Given the description of an element on the screen output the (x, y) to click on. 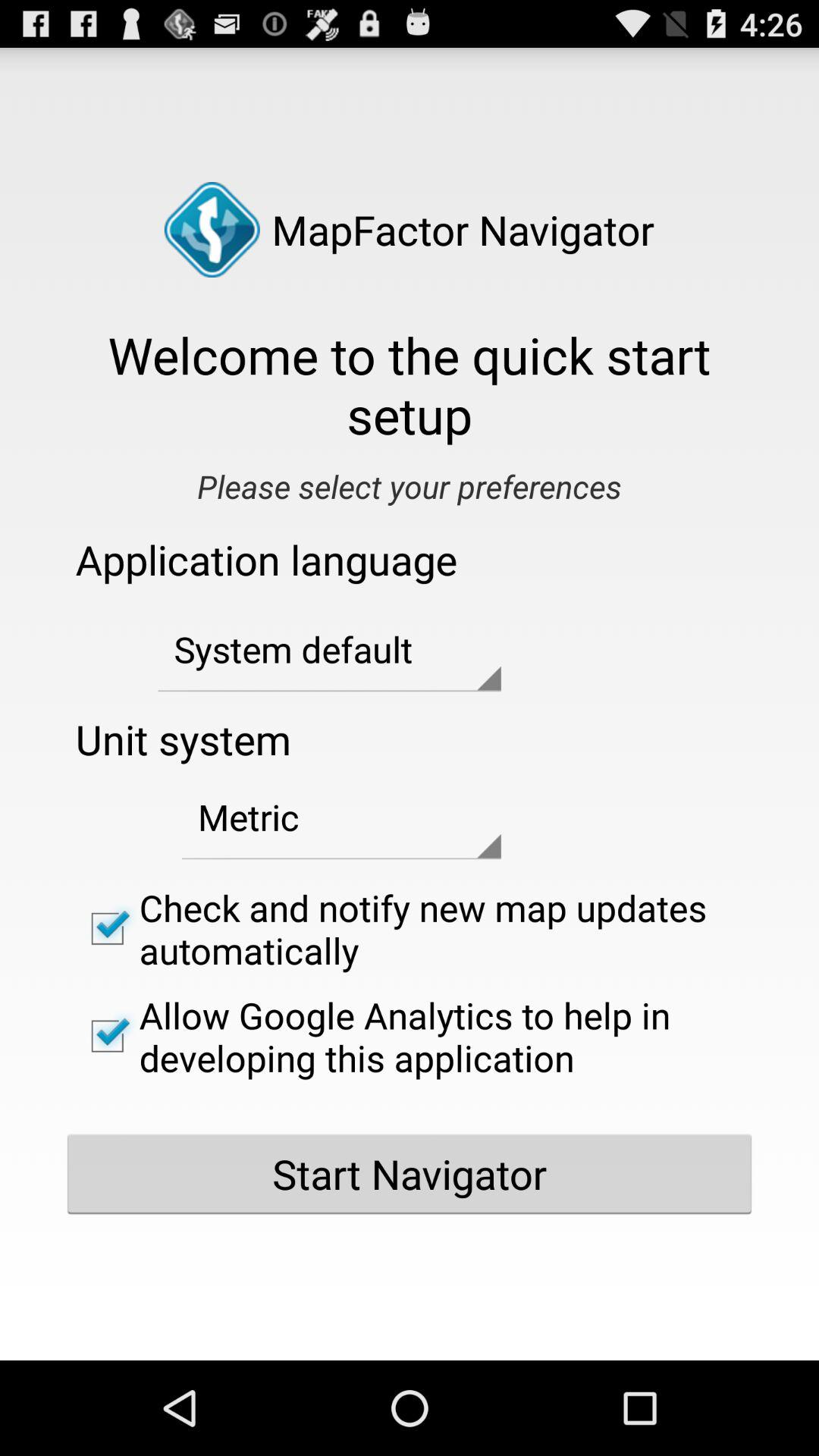
turn on the check and notify checkbox (409, 928)
